Given the description of an element on the screen output the (x, y) to click on. 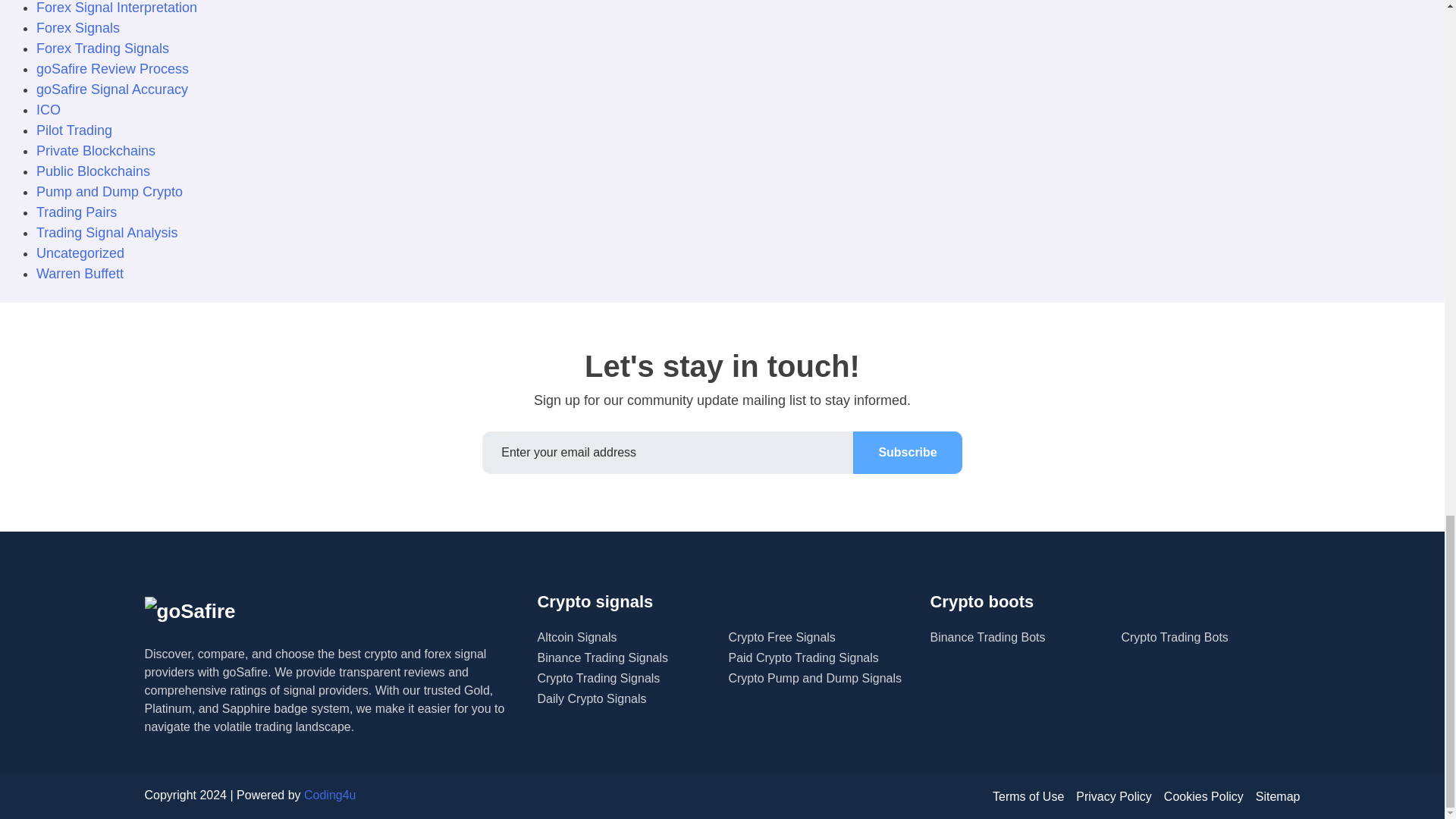
goSafire (189, 611)
